Given the description of an element on the screen output the (x, y) to click on. 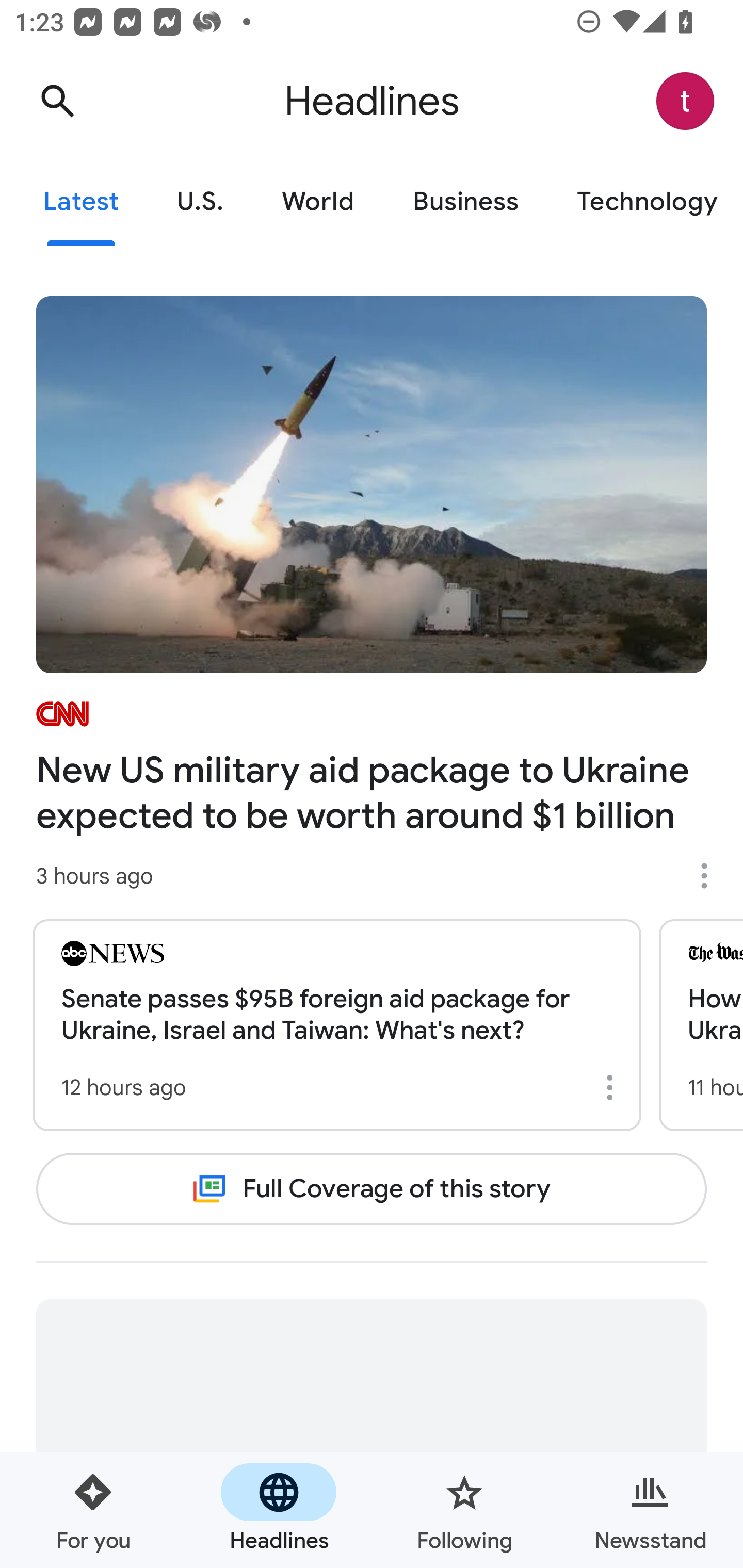
Search (57, 100)
U.S. (199, 202)
World (317, 202)
Business (465, 202)
Technology (645, 202)
More options (711, 875)
More options (613, 1086)
Full Coverage of this story (371, 1188)
For you (92, 1509)
Headlines (278, 1509)
Following (464, 1509)
Newsstand (650, 1509)
